Given the description of an element on the screen output the (x, y) to click on. 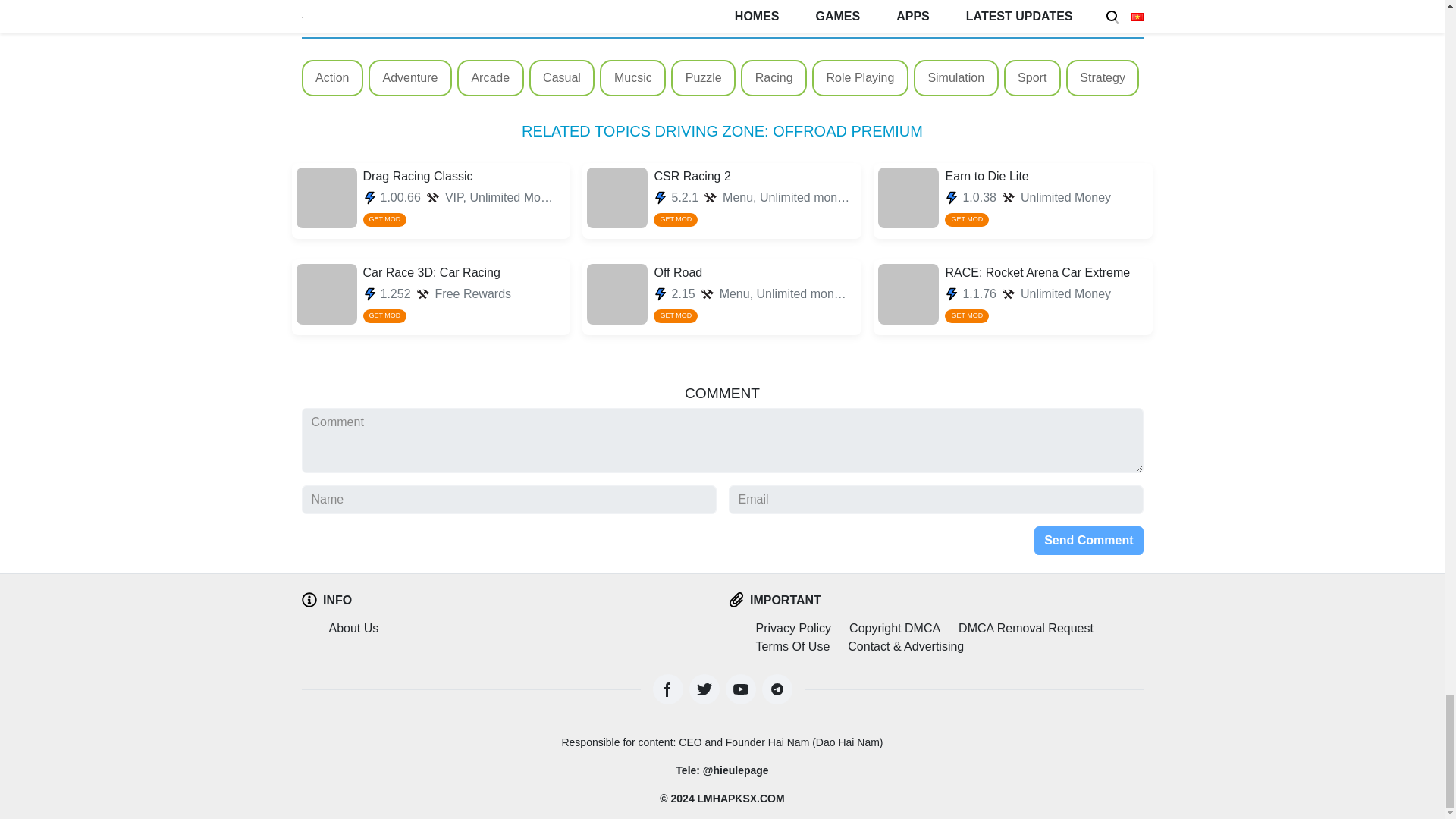
Simulation (955, 77)
Sport (1031, 77)
Arcade (489, 77)
Role Playing (861, 77)
Adventure (409, 77)
Action (1013, 200)
Casual (430, 297)
